Given the description of an element on the screen output the (x, y) to click on. 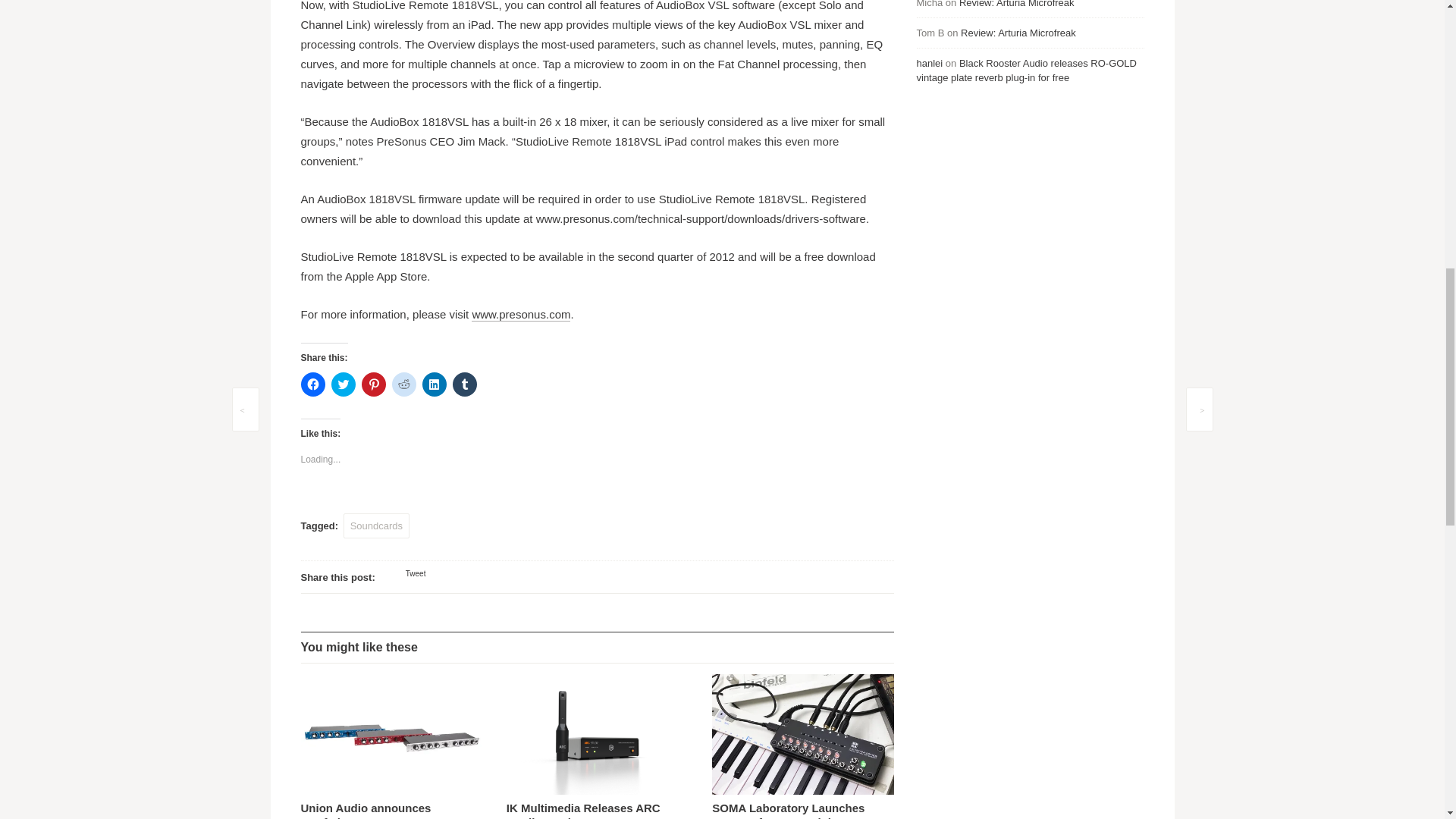
Click to share on Pinterest (373, 384)
Click to share on Facebook (311, 384)
Soundcards (376, 525)
Click to share on Tumblr (463, 384)
Click to share on LinkedIn (433, 384)
Tweet (416, 573)
Click to share on Twitter (342, 384)
www.presonus.com (520, 314)
Click to share on Reddit (402, 384)
